Given the description of an element on the screen output the (x, y) to click on. 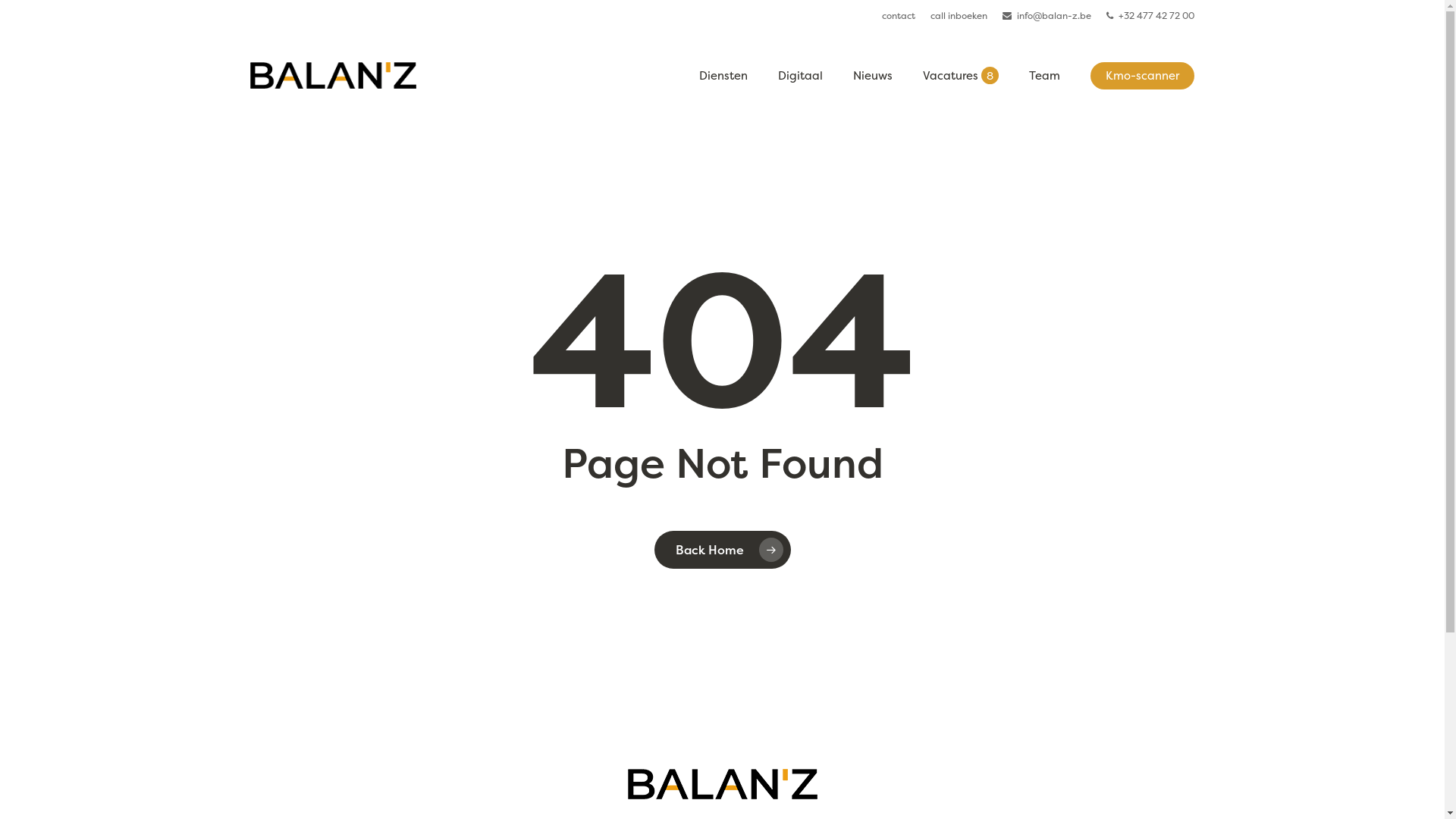
Nieuws Element type: text (872, 75)
+32 477 42 72 00 Element type: text (1150, 15)
Back Home Element type: text (721, 549)
Digitaal Element type: text (799, 75)
Vacatures 8 Element type: text (960, 75)
info@balan-z.be Element type: text (1046, 15)
contact Element type: text (898, 15)
Team Element type: text (1044, 75)
call inboeken Element type: text (958, 15)
Diensten Element type: text (723, 75)
Kmo-scanner Element type: text (1142, 75)
